Given the description of an element on the screen output the (x, y) to click on. 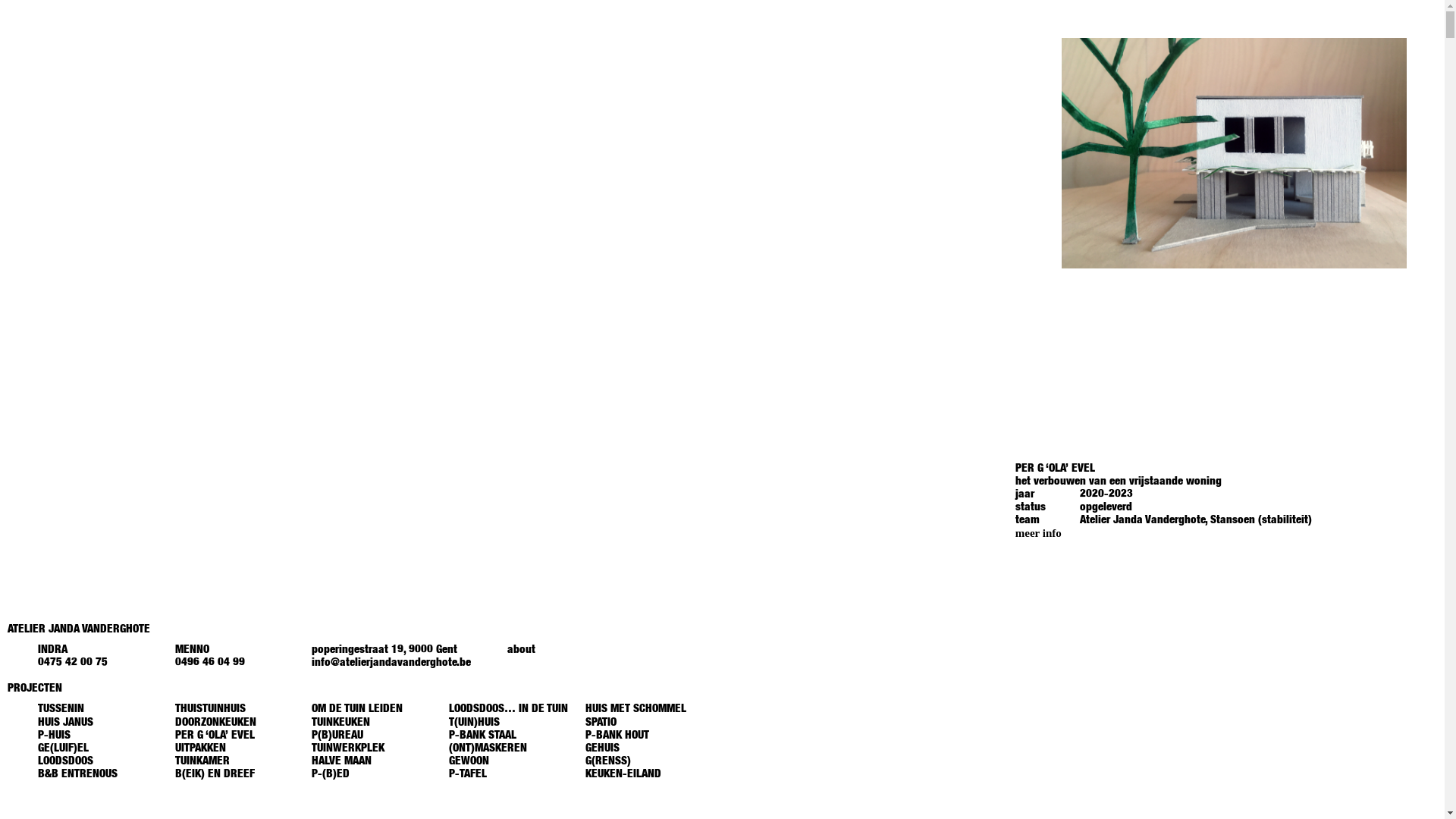
about Element type: text (521, 649)
info@atelierjandavanderghote.be Element type: text (390, 662)
